Given the description of an element on the screen output the (x, y) to click on. 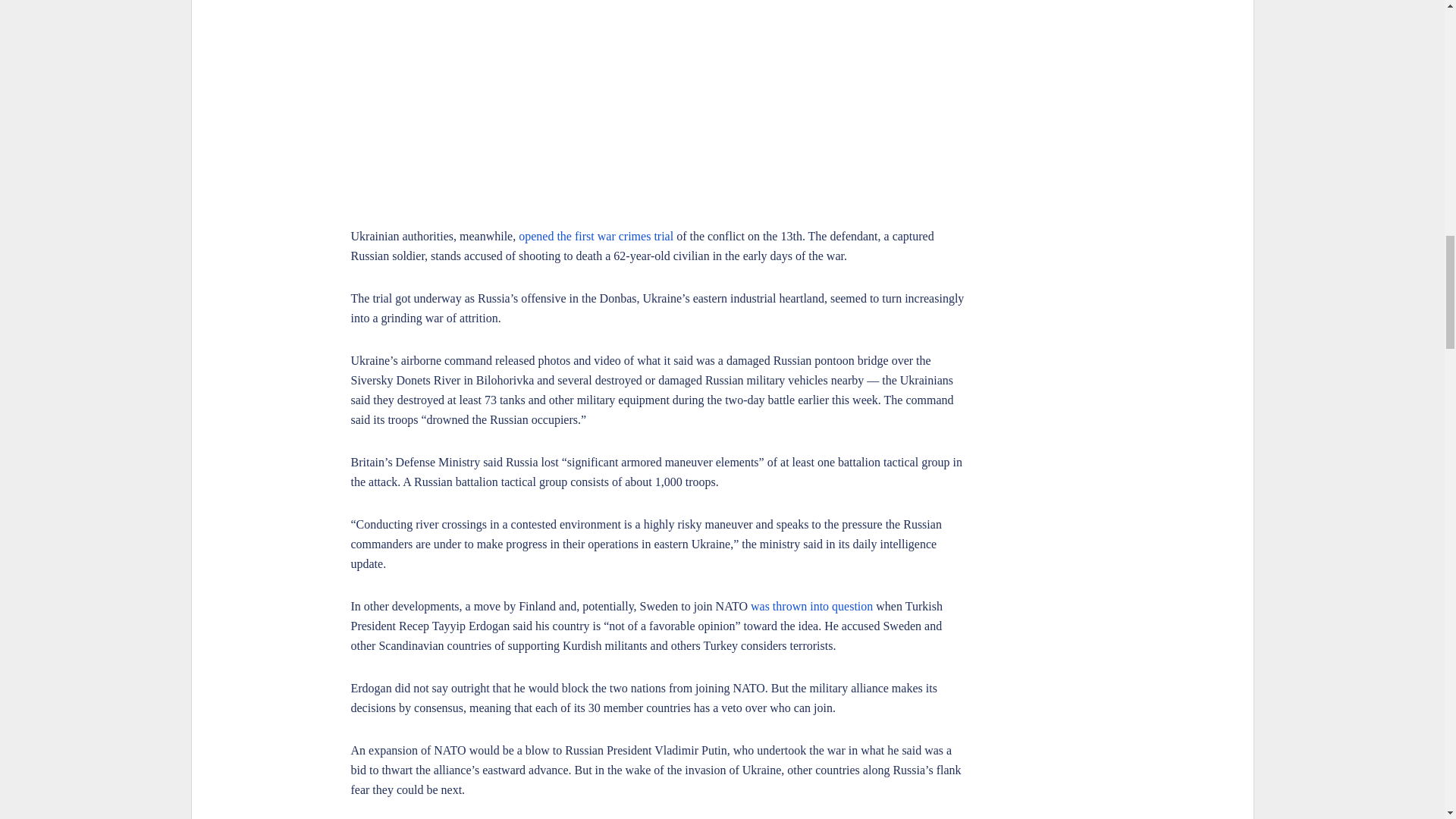
Ukraine War: The battle for Severodonetsk (656, 101)
